Given the description of an element on the screen output the (x, y) to click on. 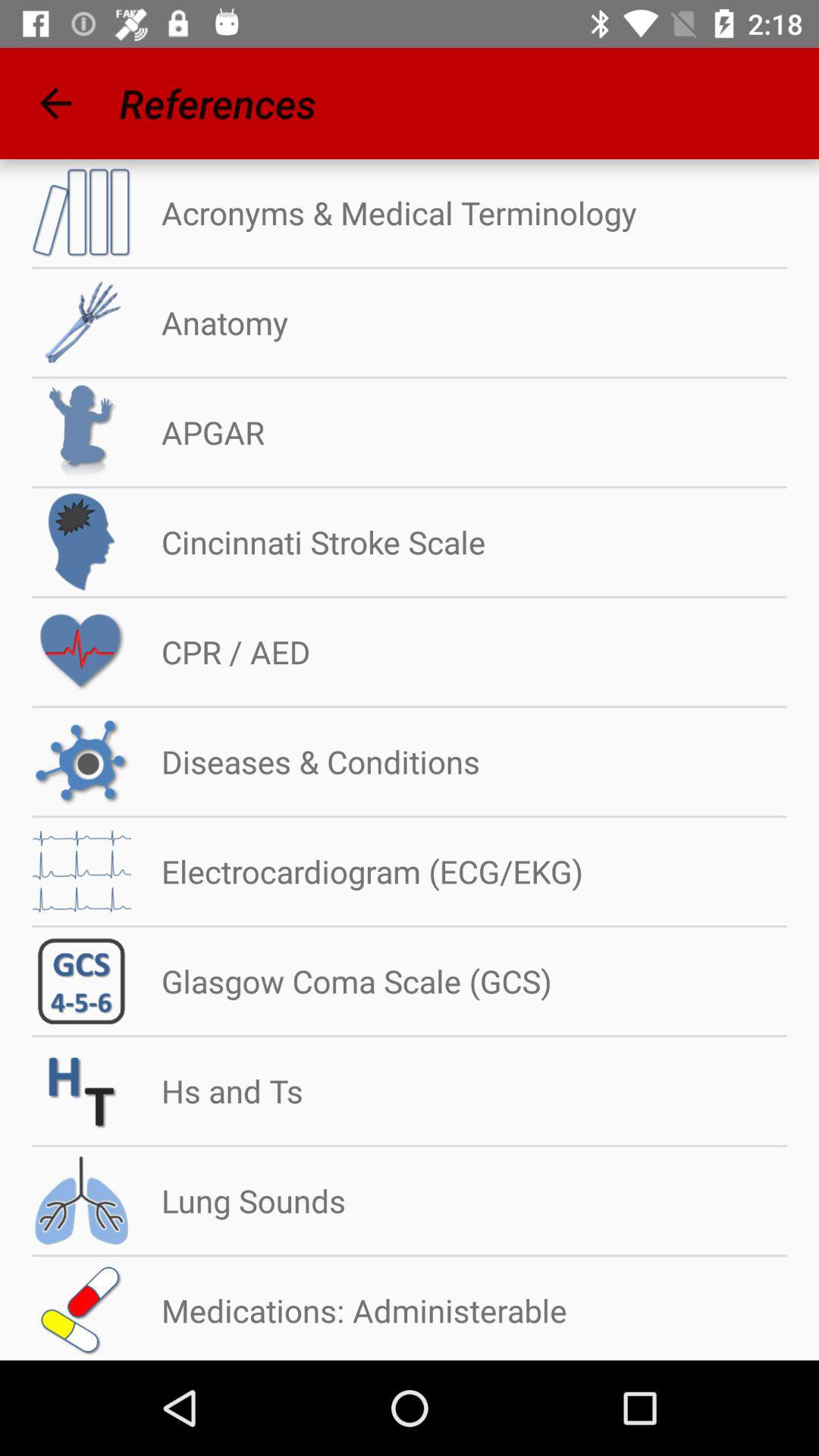
turn on the item below the references icon (384, 212)
